Given the description of an element on the screen output the (x, y) to click on. 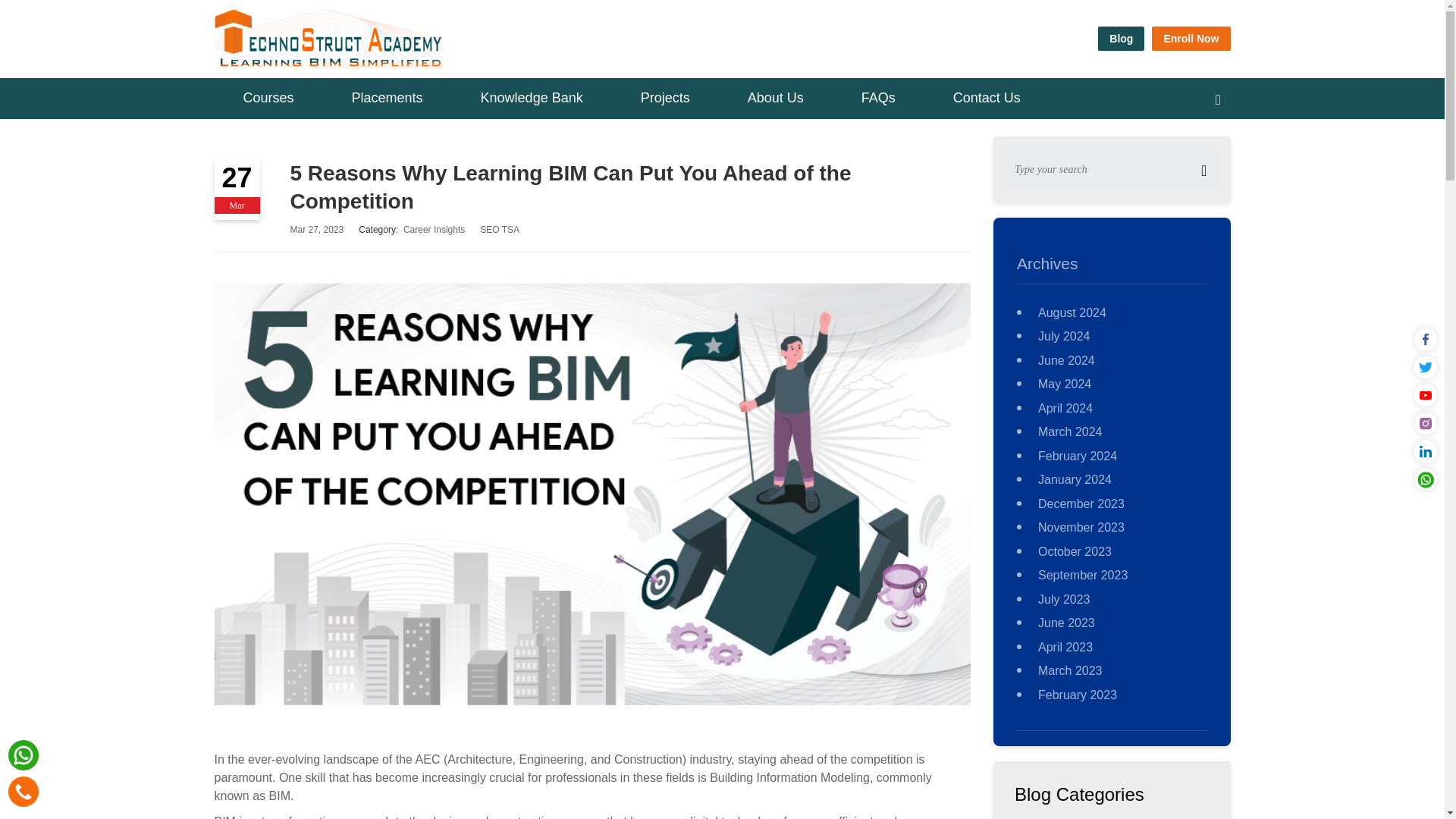
Projects (665, 97)
FAQs (878, 97)
Courses (267, 97)
Contact Us (986, 97)
Placements (387, 97)
About Us (775, 97)
Enroll Now (1190, 38)
Knowledge Bank (531, 97)
Blog (1120, 38)
